Given the description of an element on the screen output the (x, y) to click on. 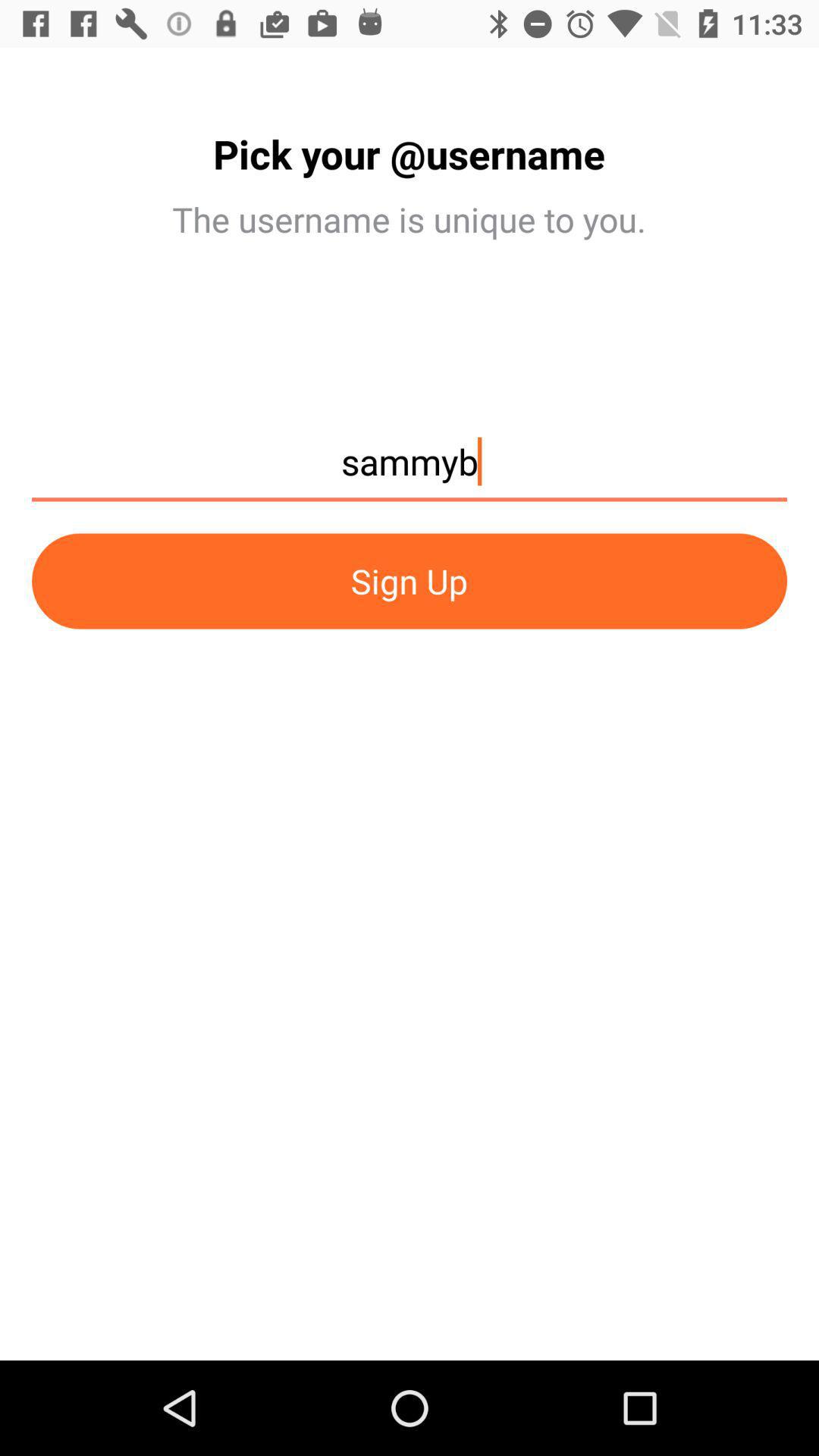
press the sammyb item (409, 469)
